Given the description of an element on the screen output the (x, y) to click on. 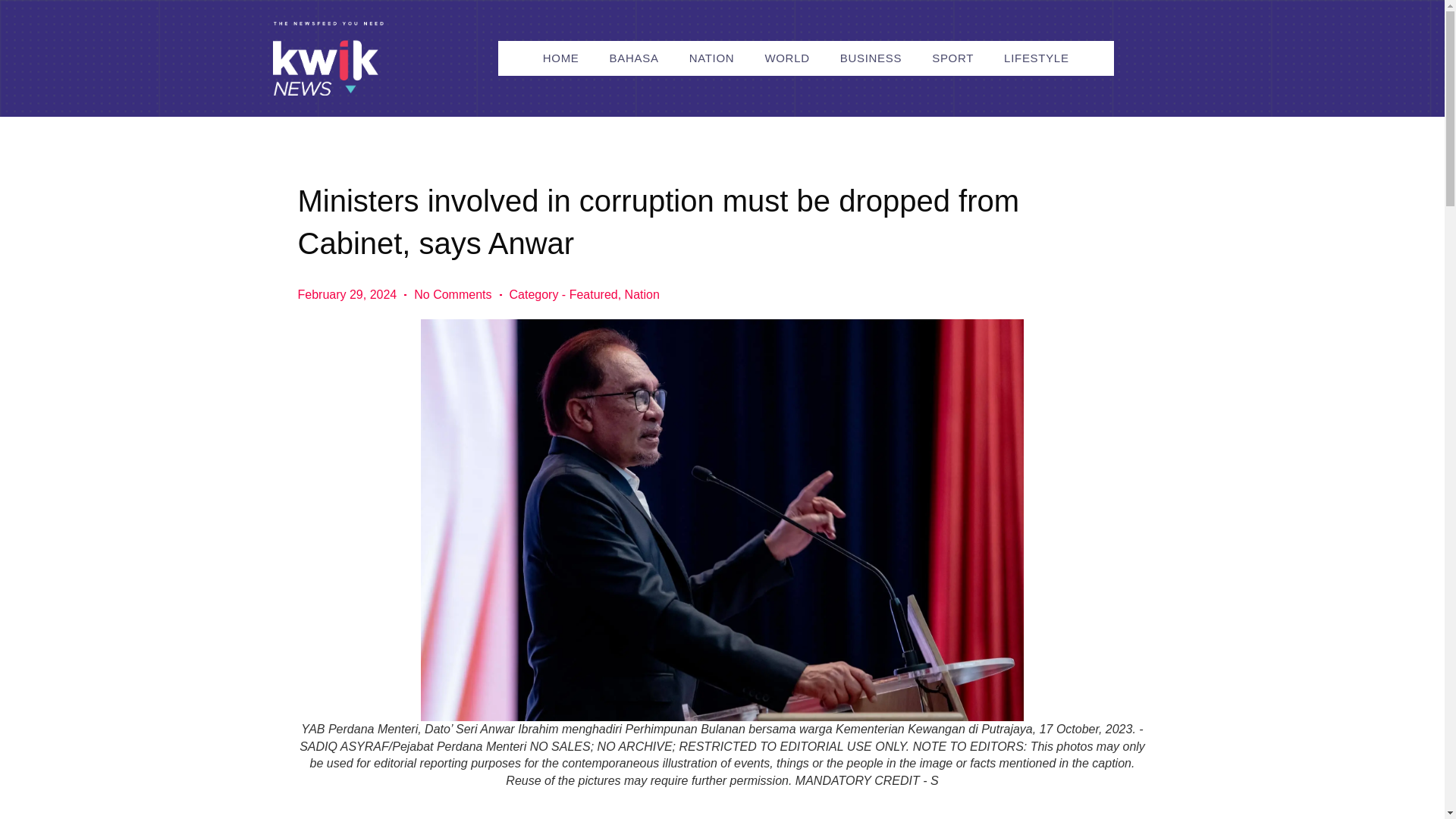
SPORT (952, 58)
BUSINESS (870, 58)
NATION (711, 58)
BAHASA (633, 58)
LIFESTYLE (1036, 58)
WORLD (786, 58)
HOME (560, 58)
